Given the description of an element on the screen output the (x, y) to click on. 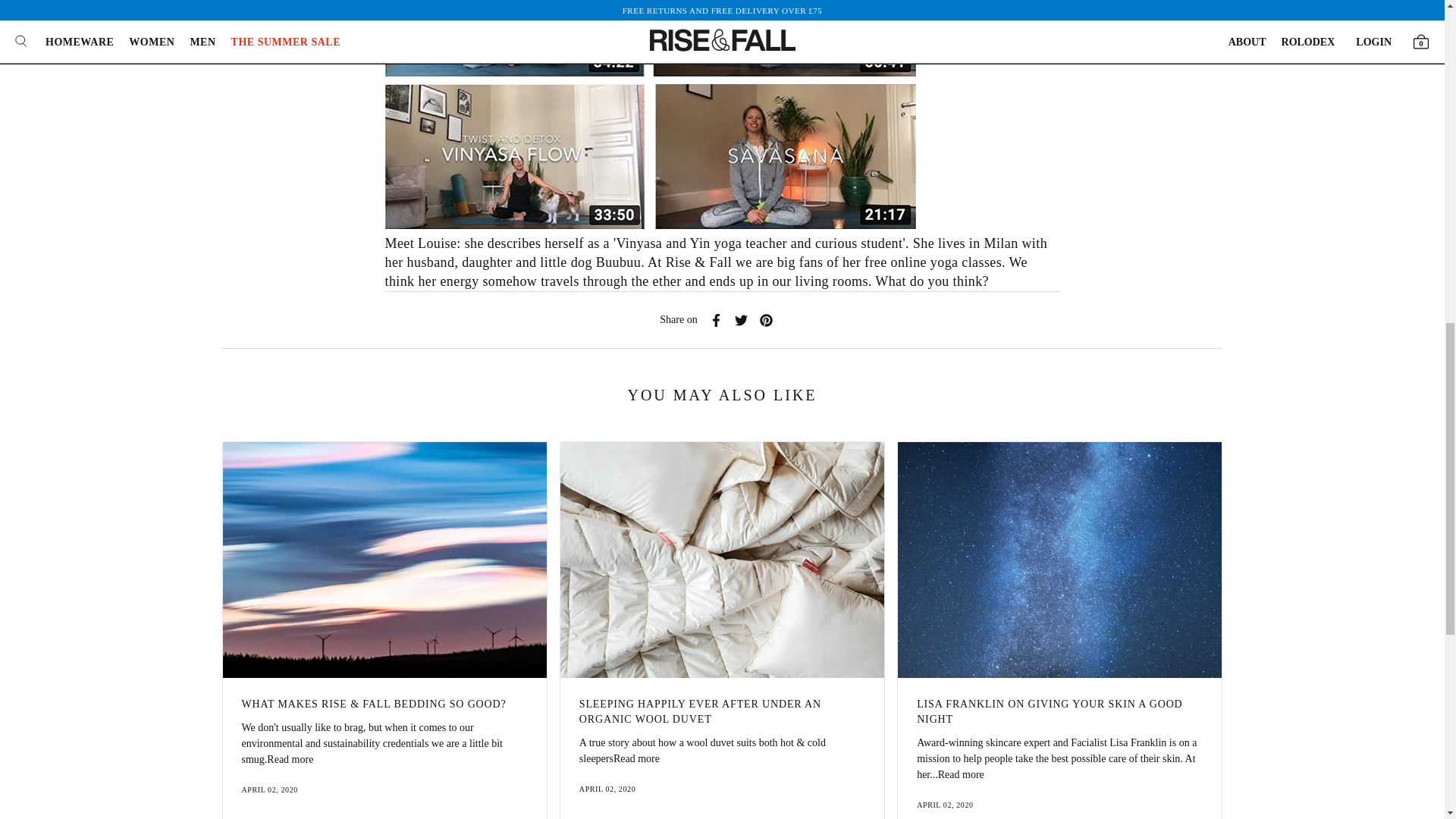
Louise von Celsing yoga (650, 224)
